Given the description of an element on the screen output the (x, y) to click on. 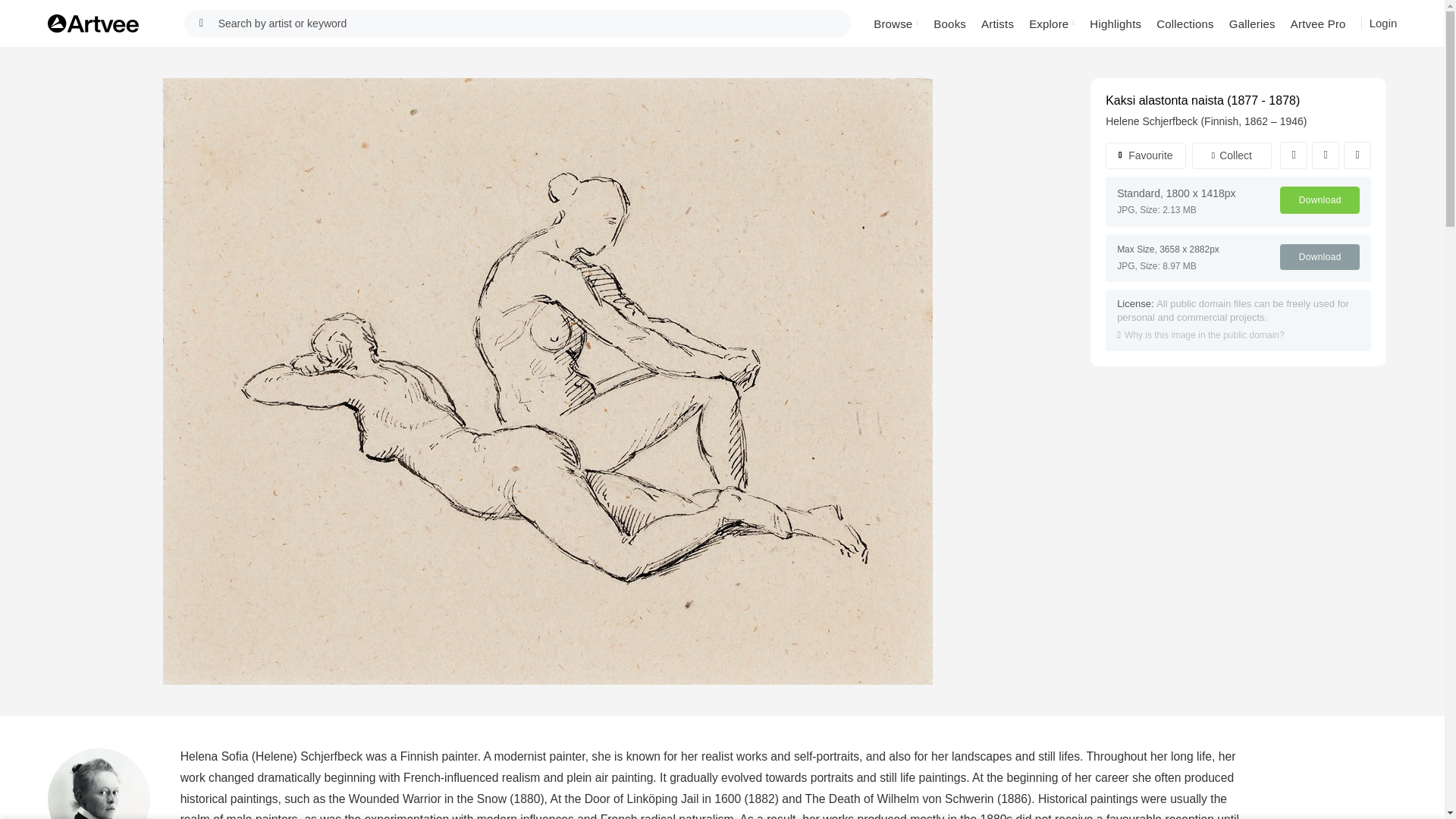
Browse (896, 23)
Favourite (1145, 155)
SEARCH (201, 22)
Helene Schjerfbeck (1150, 121)
Artists (998, 23)
Highlights (1114, 23)
Download (1319, 199)
Galleries (1251, 23)
Login (1383, 22)
Books (950, 23)
